Given the description of an element on the screen output the (x, y) to click on. 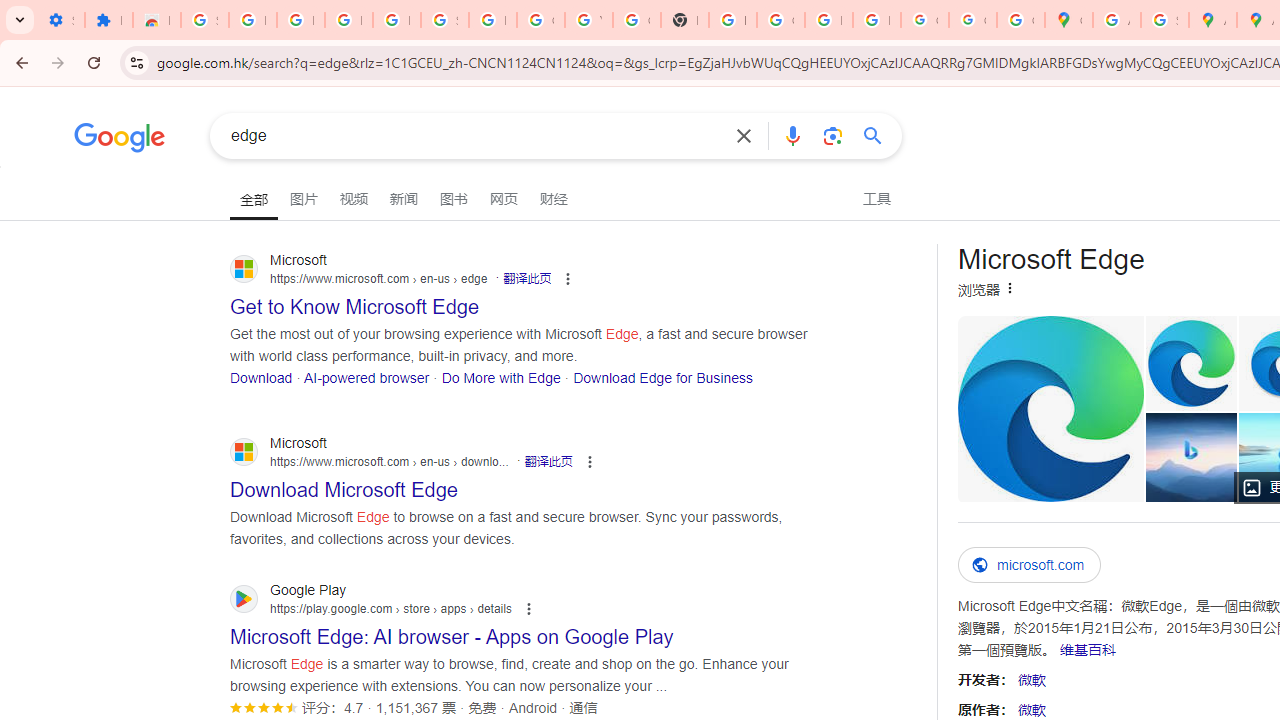
Do More with Edge (500, 376)
Download Edge for Business (662, 376)
Google Maps (1068, 20)
Microsoft Edge help & learning (1190, 457)
Safety in Our Products - Google Safety Center (1164, 20)
Sign in - Google Accounts (444, 20)
